Given the description of an element on the screen output the (x, y) to click on. 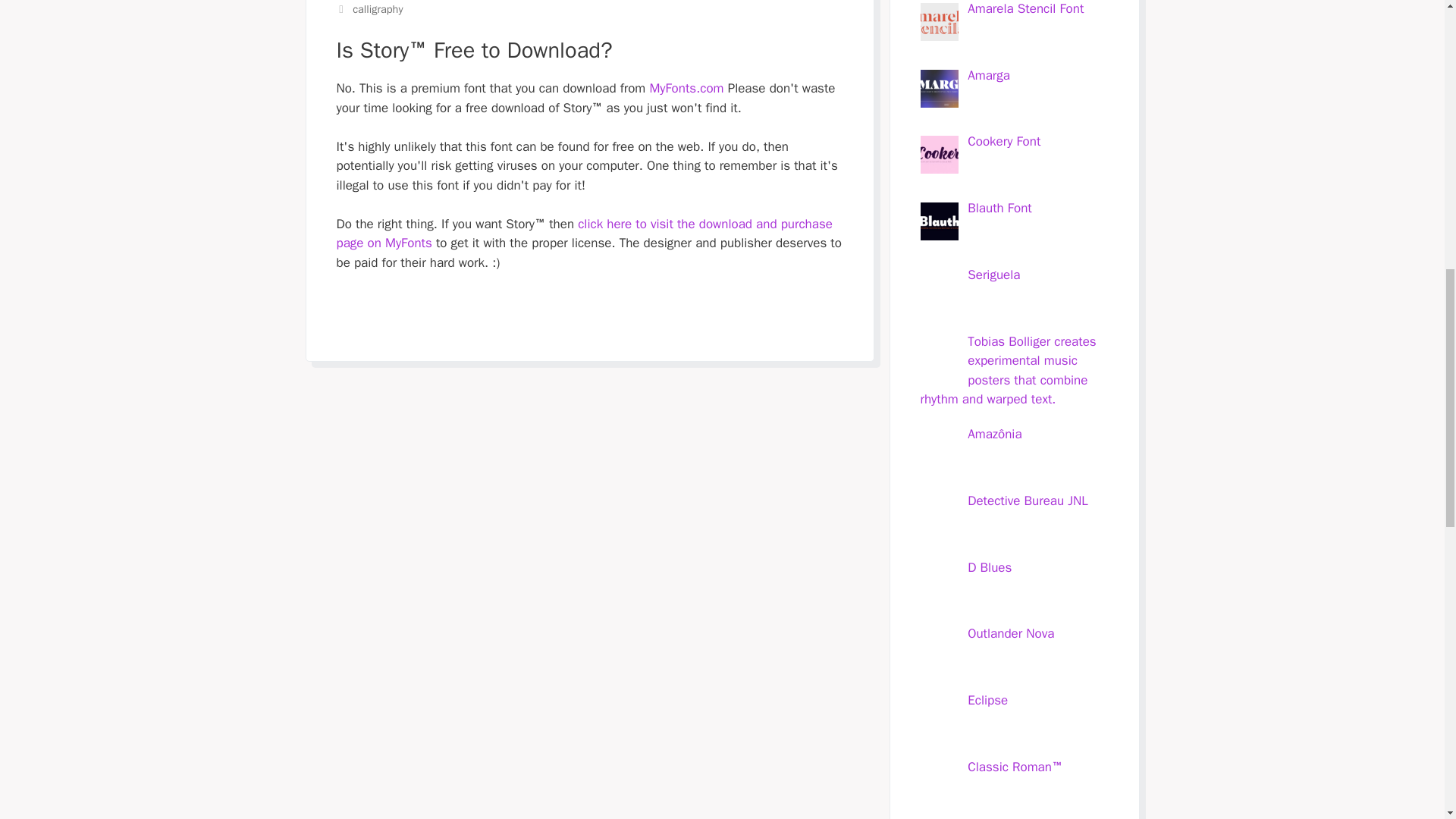
MyFonts.com (686, 88)
calligraphy (377, 8)
Amarela Stencil Font (1025, 8)
Outlander Nova (1011, 633)
Detective Bureau JNL (1027, 500)
Blauth Font (1000, 207)
D Blues (989, 567)
Amarga (989, 74)
Eclipse (987, 700)
Seriguela (994, 274)
Cookery Font (1004, 141)
